Given the description of an element on the screen output the (x, y) to click on. 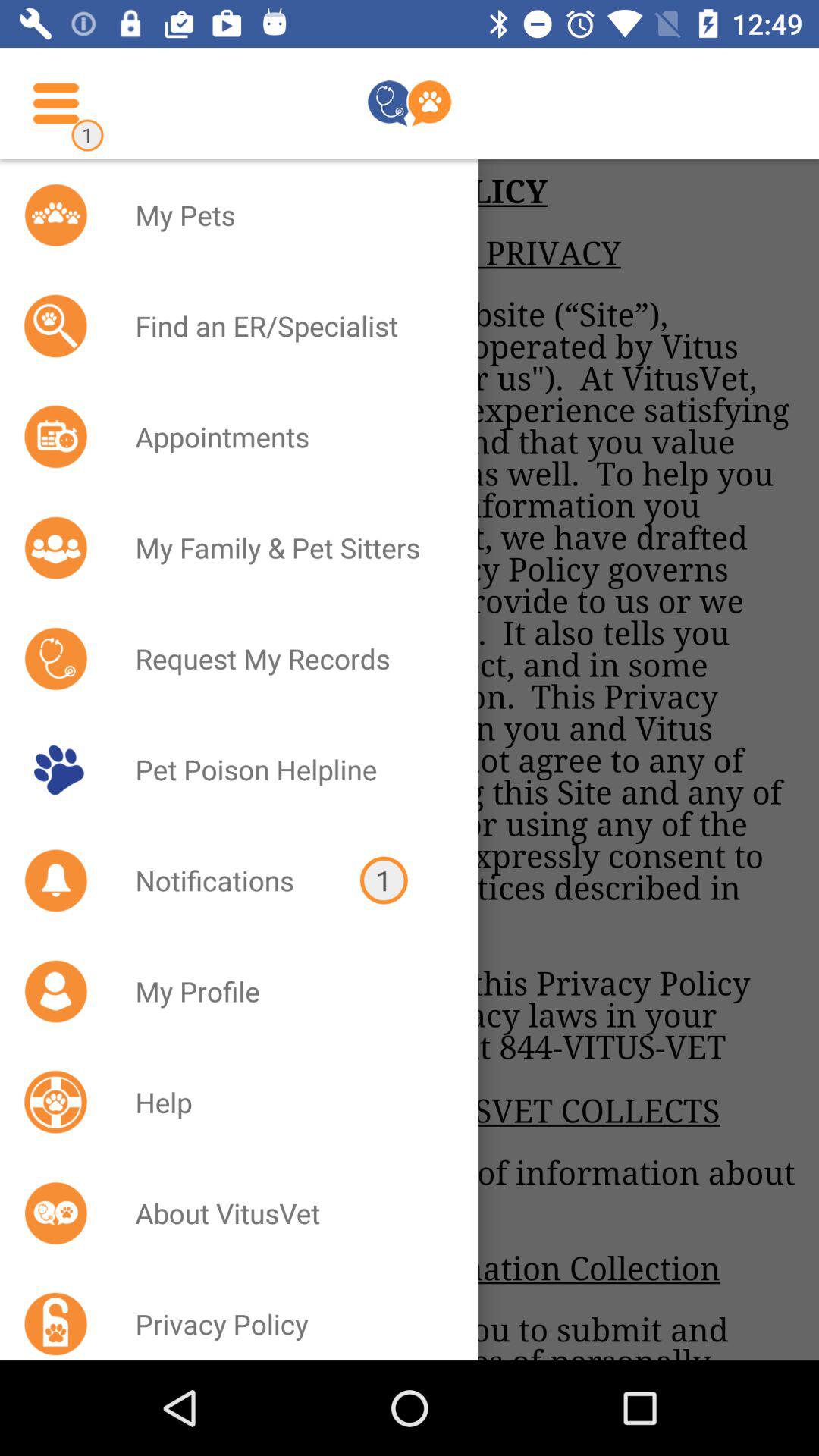
click on icon left to help (56, 1102)
click on the icon beside my profile (56, 991)
click on the icon beside find an erspecialist (56, 326)
